Given the description of an element on the screen output the (x, y) to click on. 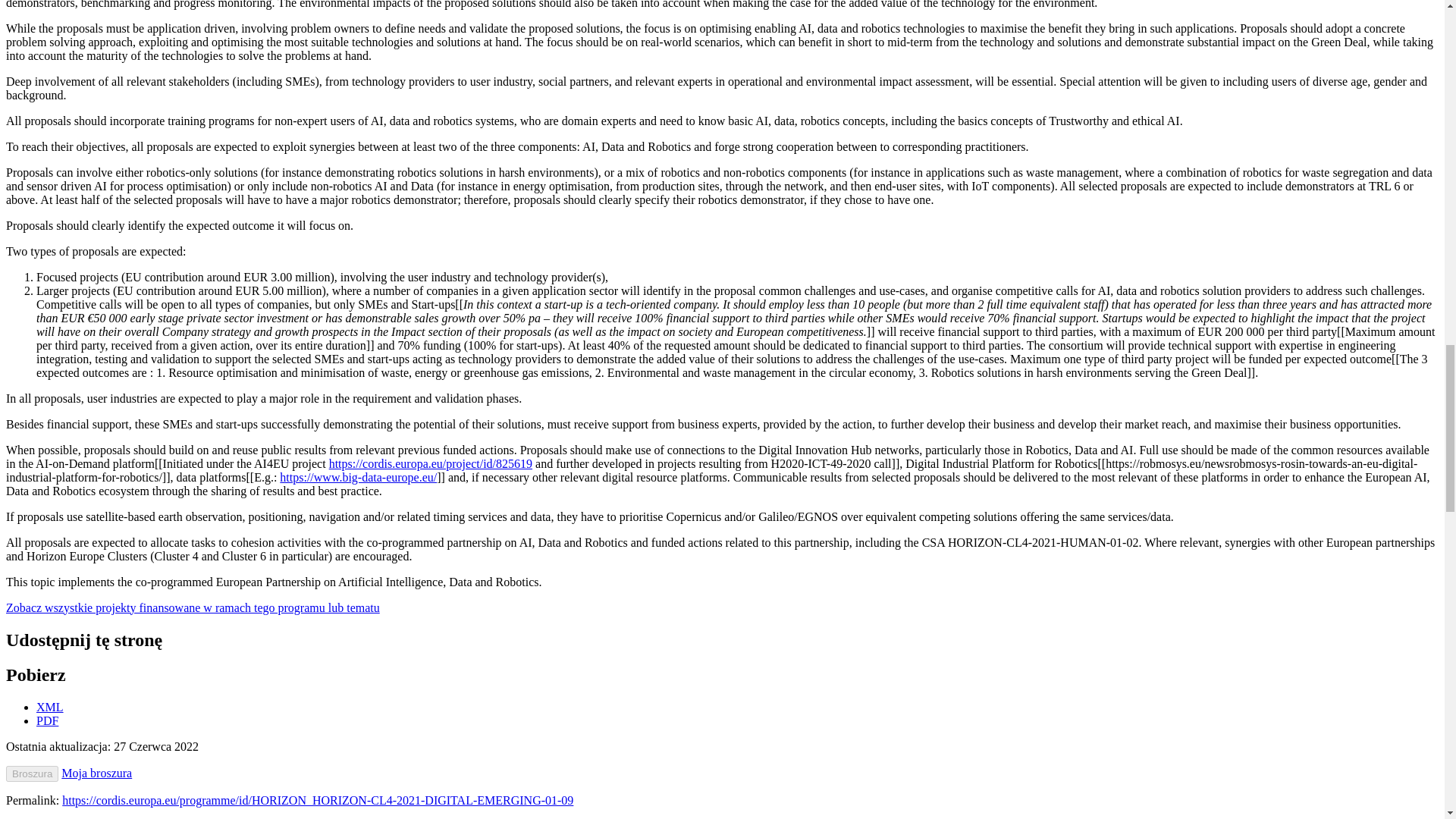
PDF (47, 720)
XML (50, 707)
Moja broszura (96, 772)
Broszura (31, 773)
